Given the description of an element on the screen output the (x, y) to click on. 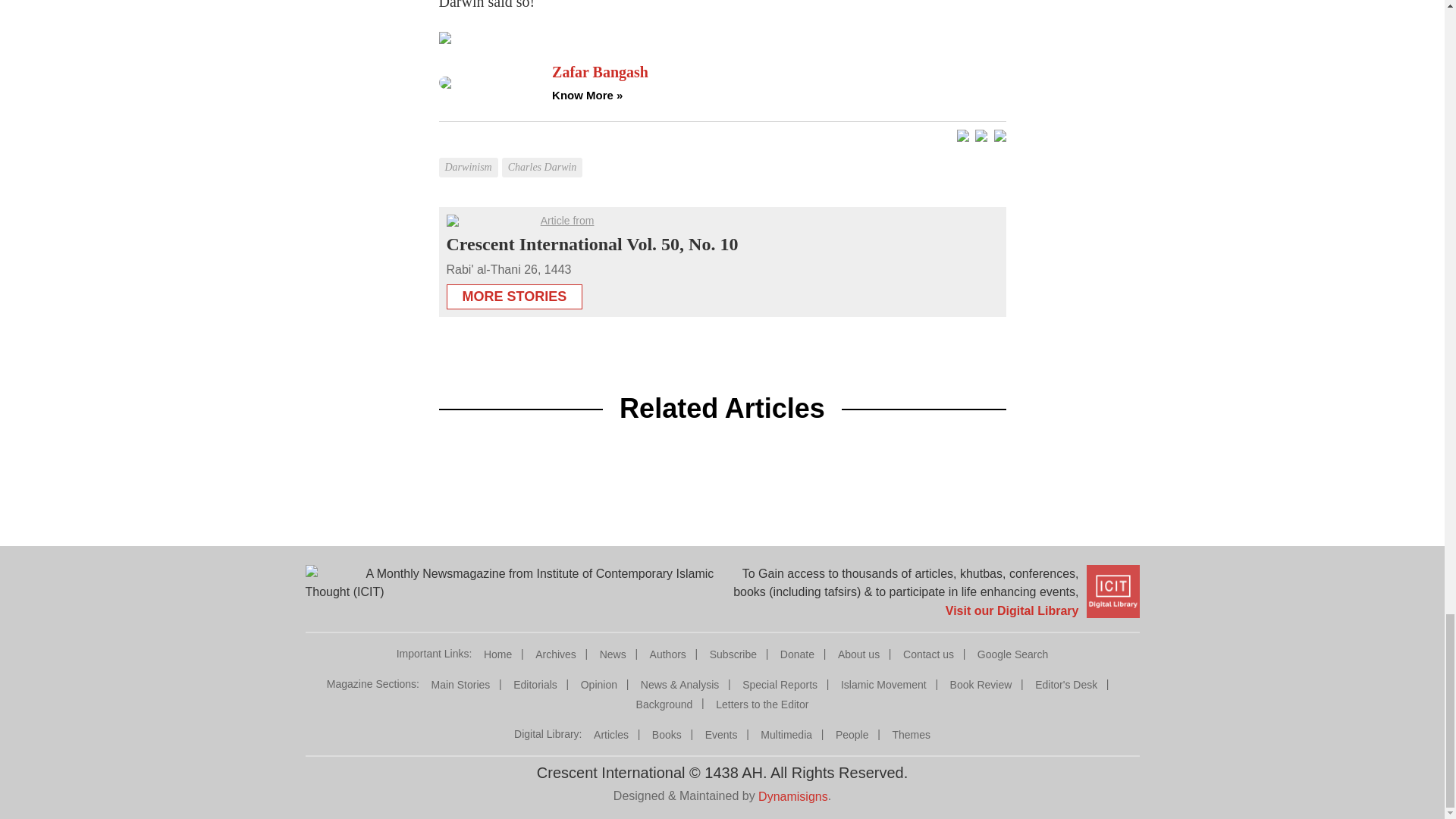
MORE STORIES (513, 291)
Zafar Bangash (778, 72)
Darwinism (469, 155)
Charles Darwin (544, 155)
